Given the description of an element on the screen output the (x, y) to click on. 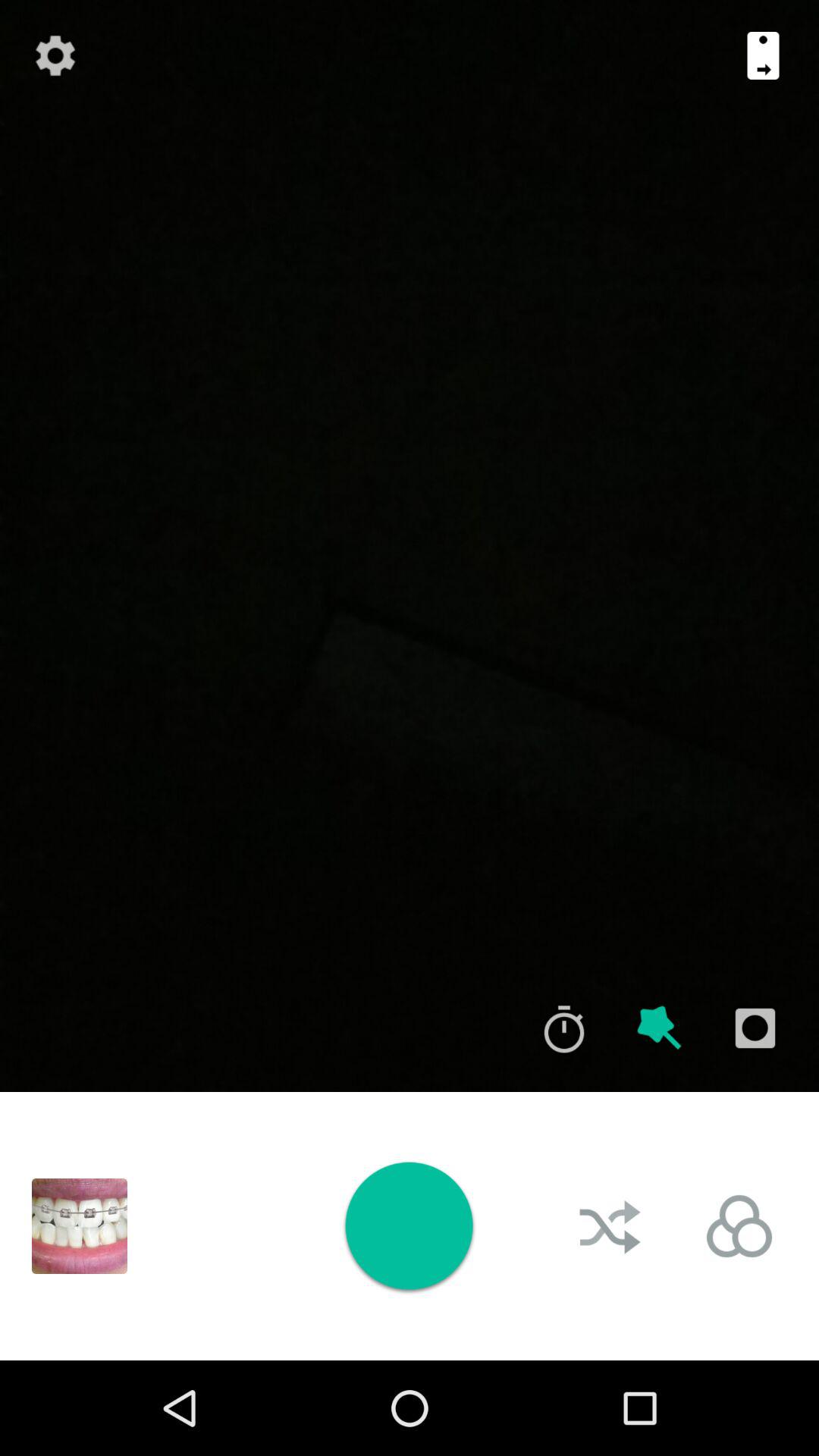
tap the item at the bottom left corner (79, 1226)
